Given the description of an element on the screen output the (x, y) to click on. 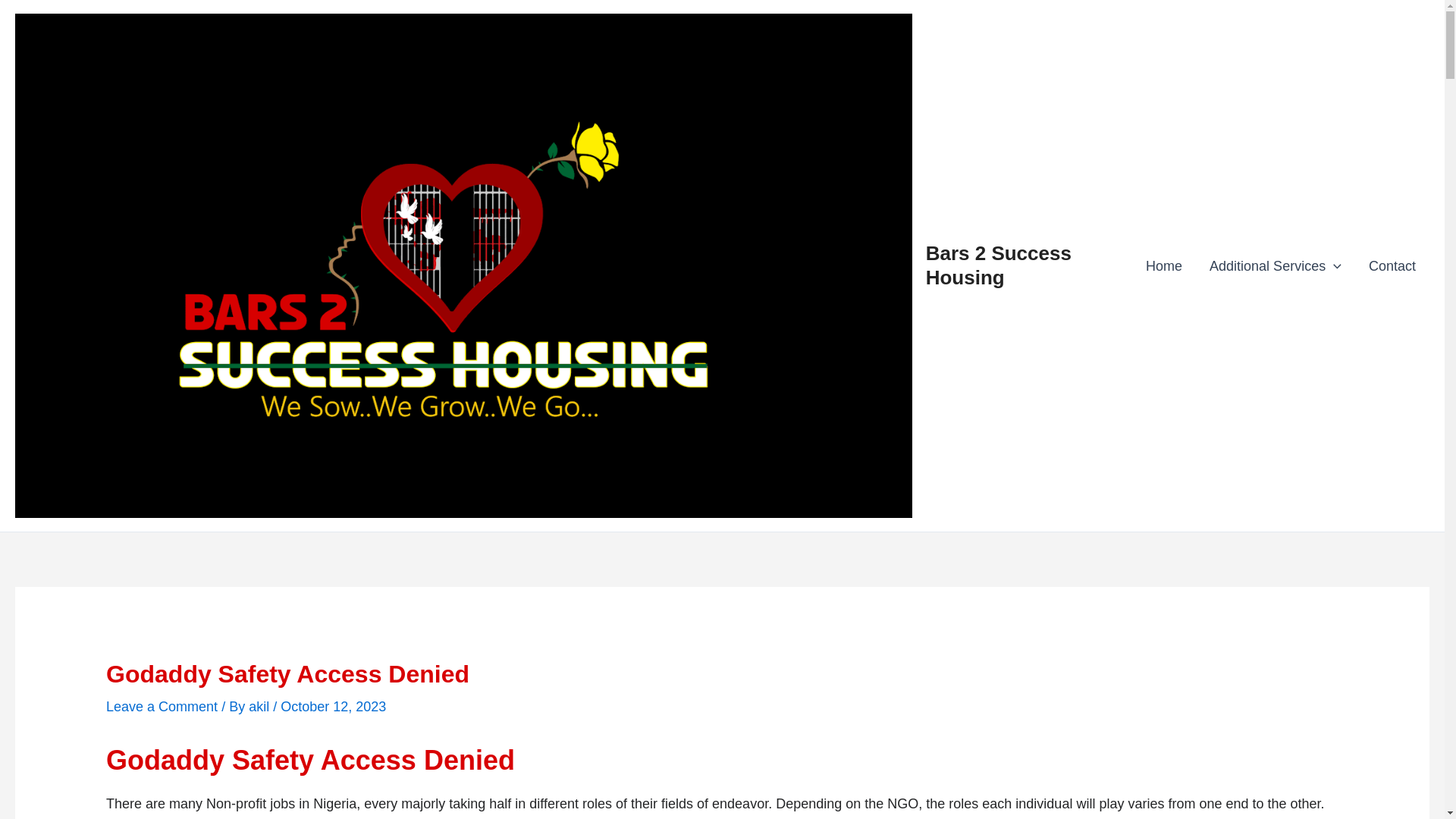
akil (260, 706)
Leave a Comment (161, 706)
Additional Services (1275, 265)
View all posts by akil (260, 706)
Home (1163, 265)
Contact (1392, 265)
Bars 2 Success Housing (998, 264)
